Given the description of an element on the screen output the (x, y) to click on. 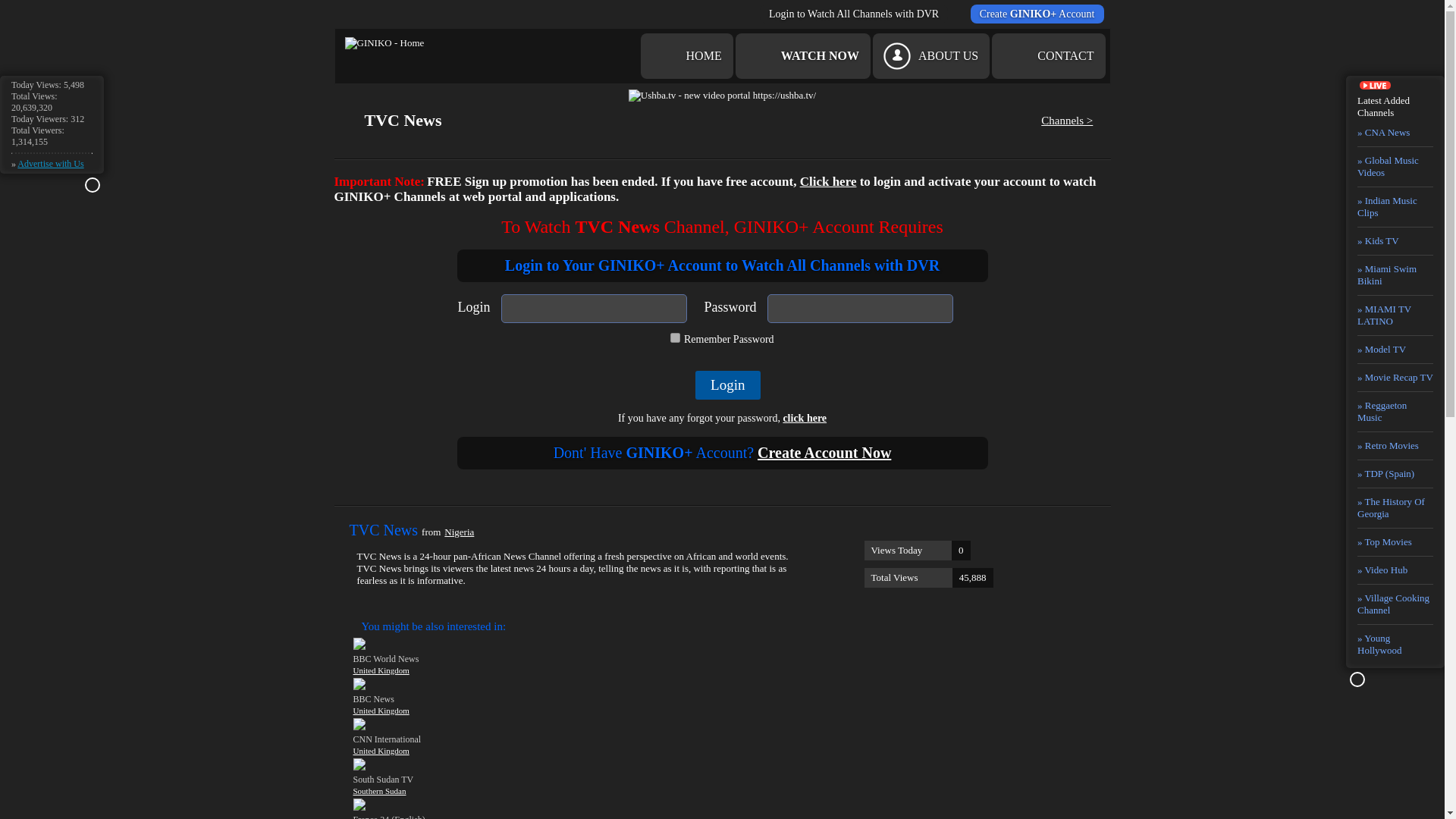
Login (727, 385)
BBC News (731, 684)
Create Account Now (824, 452)
on (674, 337)
WATCH NOW (802, 55)
Nigeria (459, 531)
CONTACT (1048, 55)
GINIKO - Home (383, 42)
HOME (686, 55)
ABOUT US (931, 55)
Advertise with Us (50, 163)
CNN International (731, 724)
click here (805, 418)
Click here (928, 578)
